Given the description of an element on the screen output the (x, y) to click on. 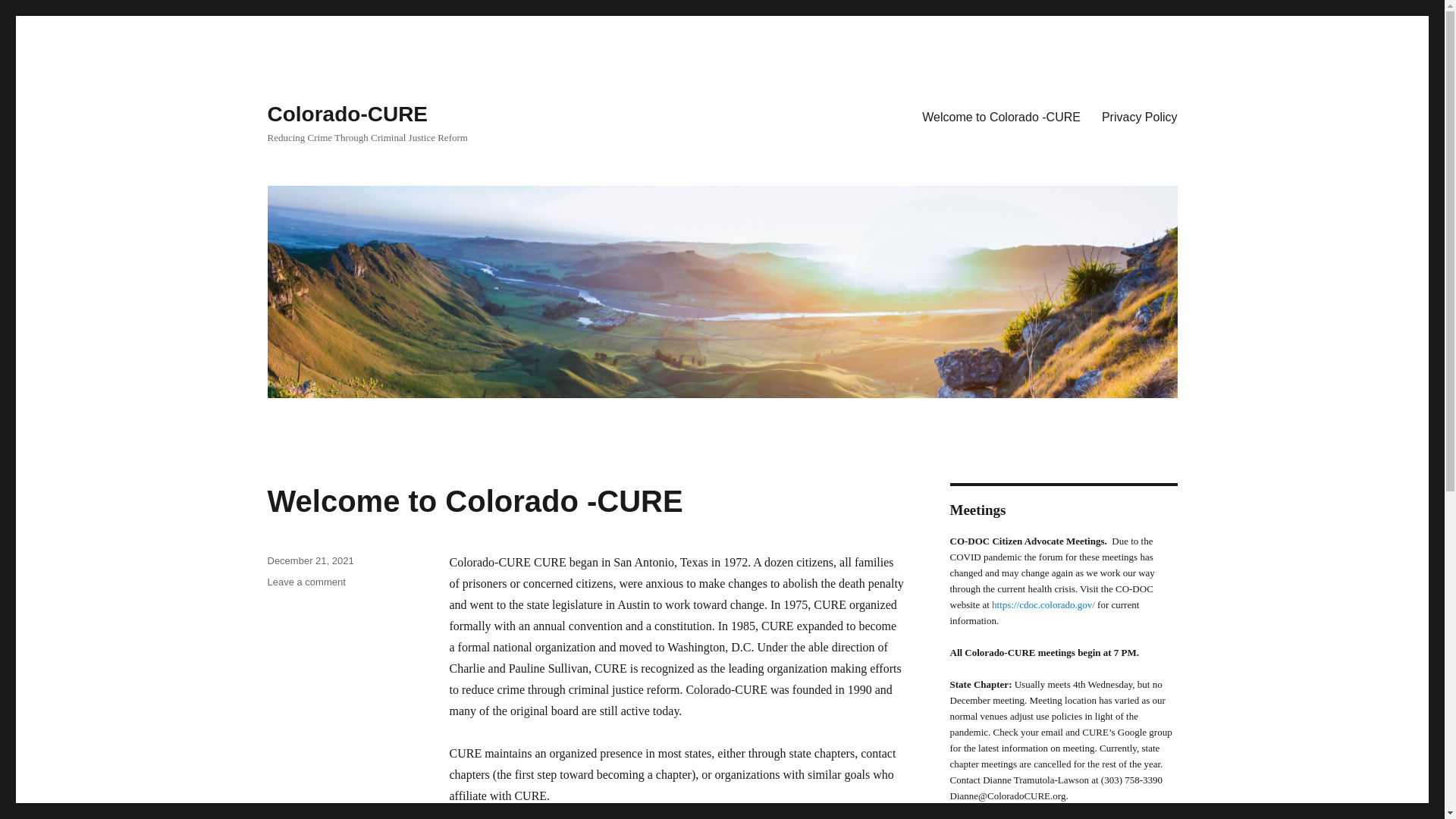
Privacy Policy (1139, 116)
Colorado-CURE (347, 114)
Welcome to Colorado -CURE (1000, 116)
December 21, 2021 (309, 560)
Welcome to Colorado -CURE (305, 582)
